Given the description of an element on the screen output the (x, y) to click on. 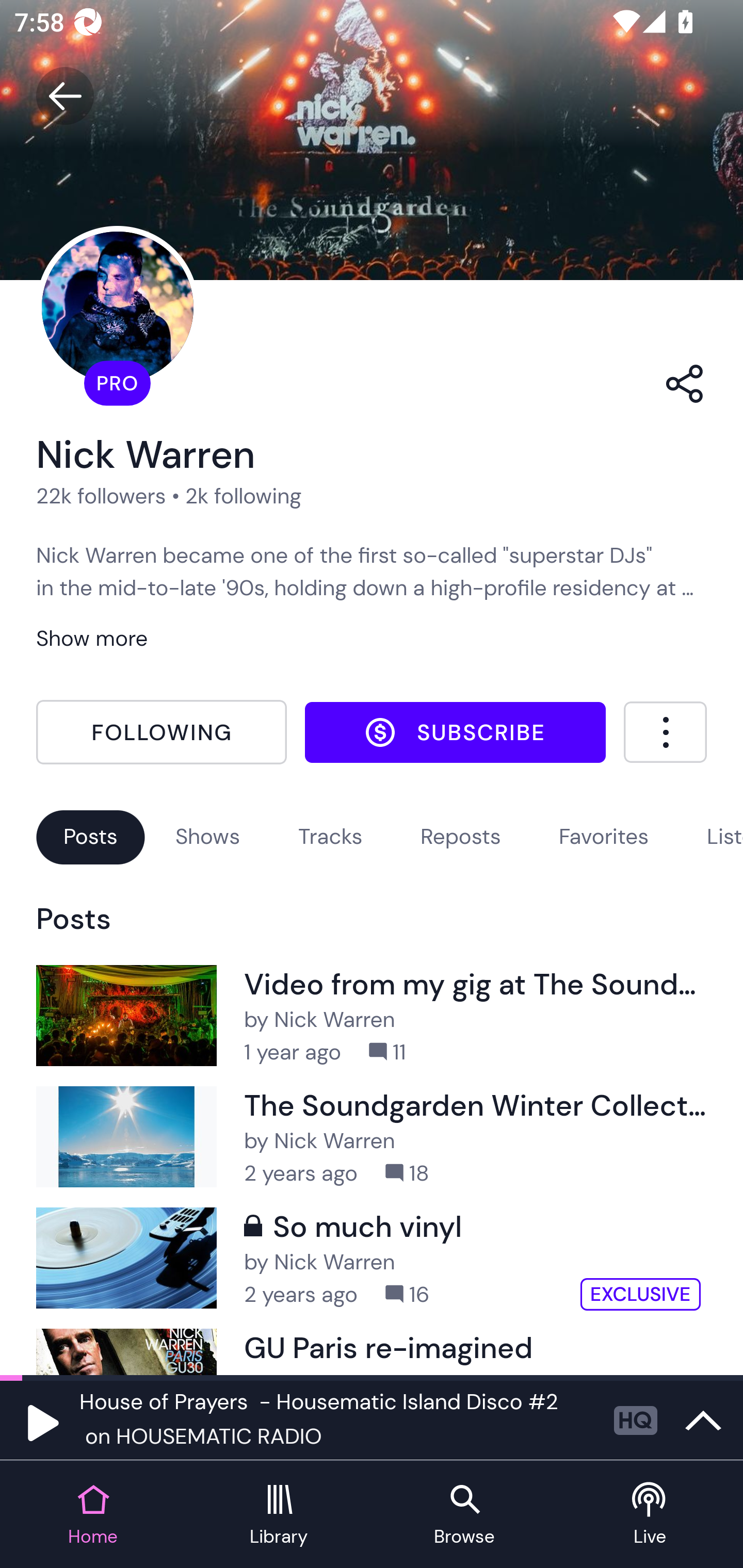
22k followers (101, 495)
2k following (243, 495)
Following FOLLOWING (161, 732)
More Menu (665, 731)
Subscribe SUBSCRIBE (454, 732)
Posts (90, 836)
Shows (207, 836)
Tracks (329, 836)
Reposts (460, 836)
Favorites (603, 836)
Listens (724, 836)
Home tab Home (92, 1515)
Library tab Library (278, 1515)
Browse tab Browse (464, 1515)
Live tab Live (650, 1515)
